Given the description of an element on the screen output the (x, y) to click on. 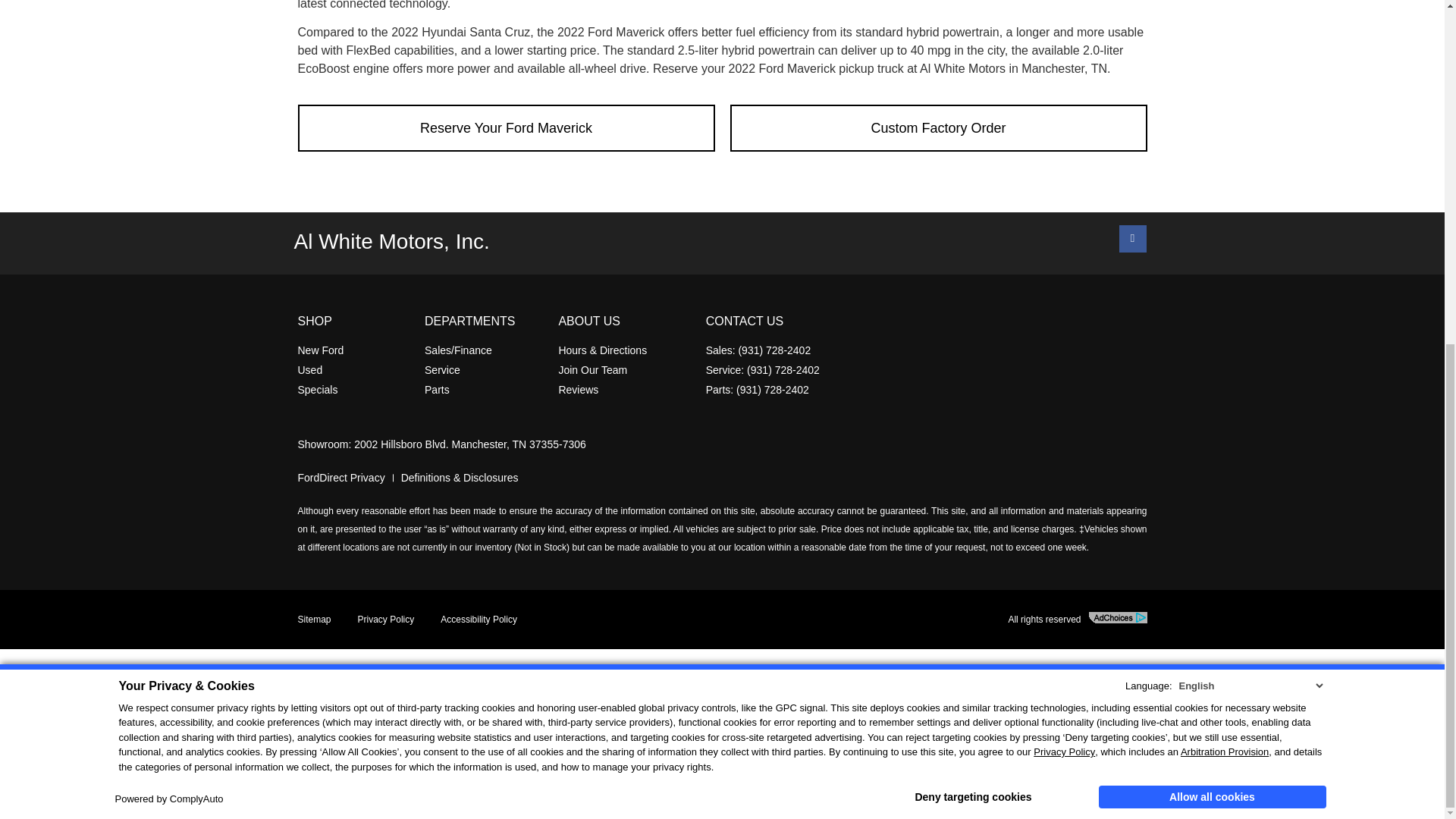
AdChoices (1118, 617)
